Given the description of an element on the screen output the (x, y) to click on. 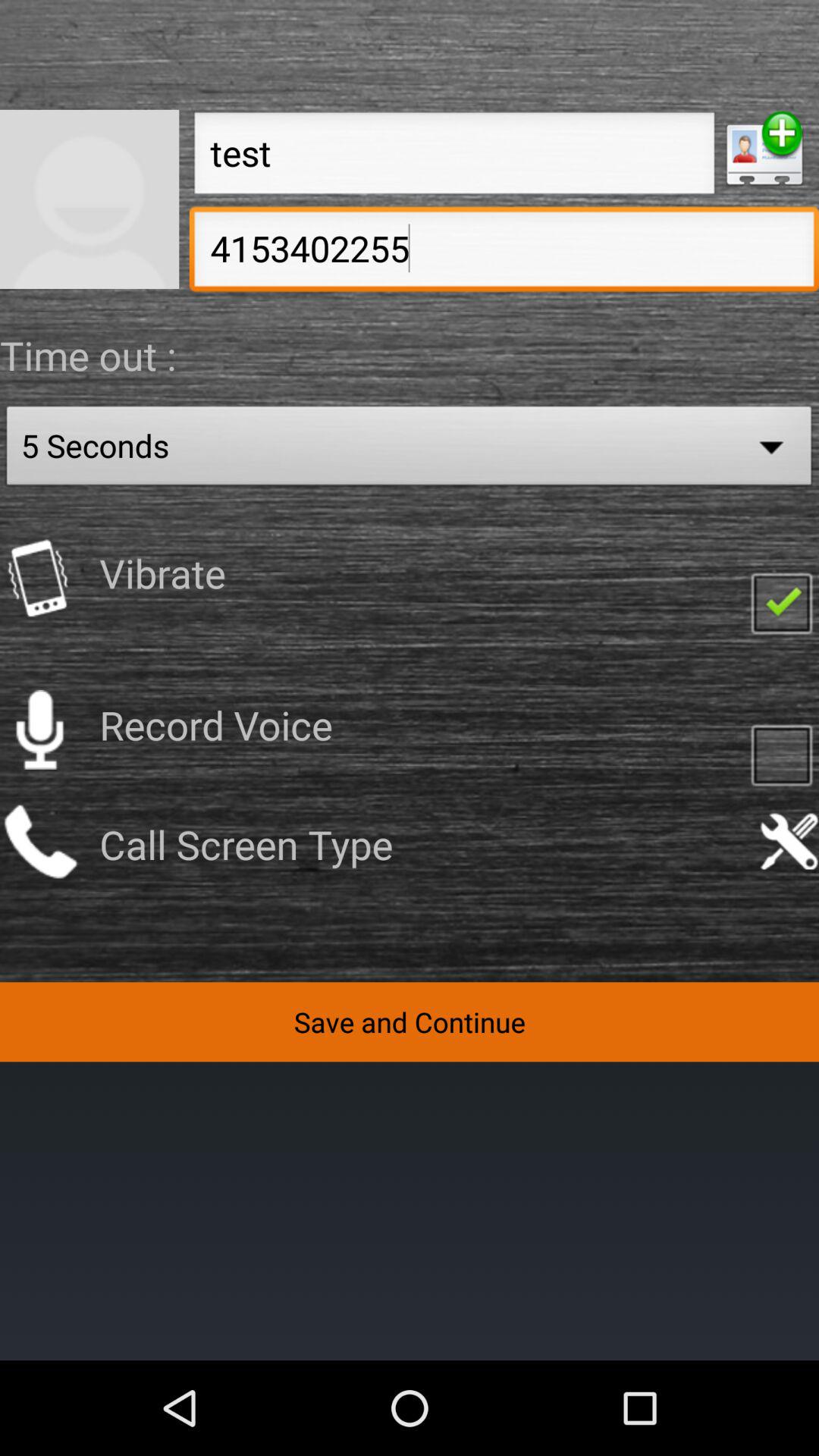
choose the speaker (39, 729)
